Given the description of an element on the screen output the (x, y) to click on. 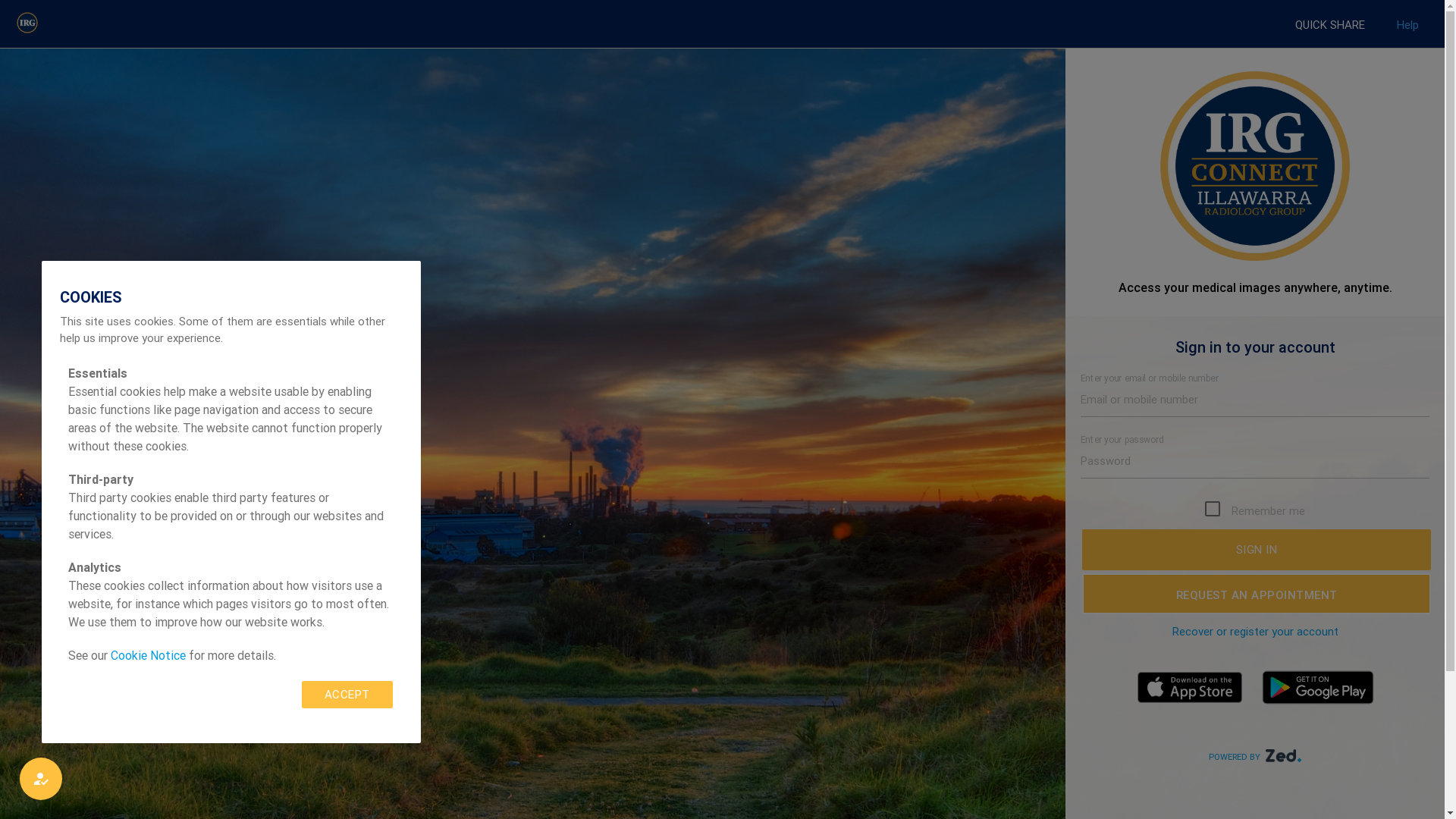
Help Element type: text (1407, 24)
REQUEST AN APPOINTMENT Element type: text (1256, 593)
ACCEPT Element type: text (346, 694)
Recover or register your account Element type: text (1255, 630)
SIGN IN Element type: text (1256, 549)
Cookie Notice Element type: text (147, 654)
how_to_reg Element type: text (40, 778)
QUICK SHARE Element type: text (1329, 24)
POWERED BY Element type: text (1254, 755)
